Given the description of an element on the screen output the (x, y) to click on. 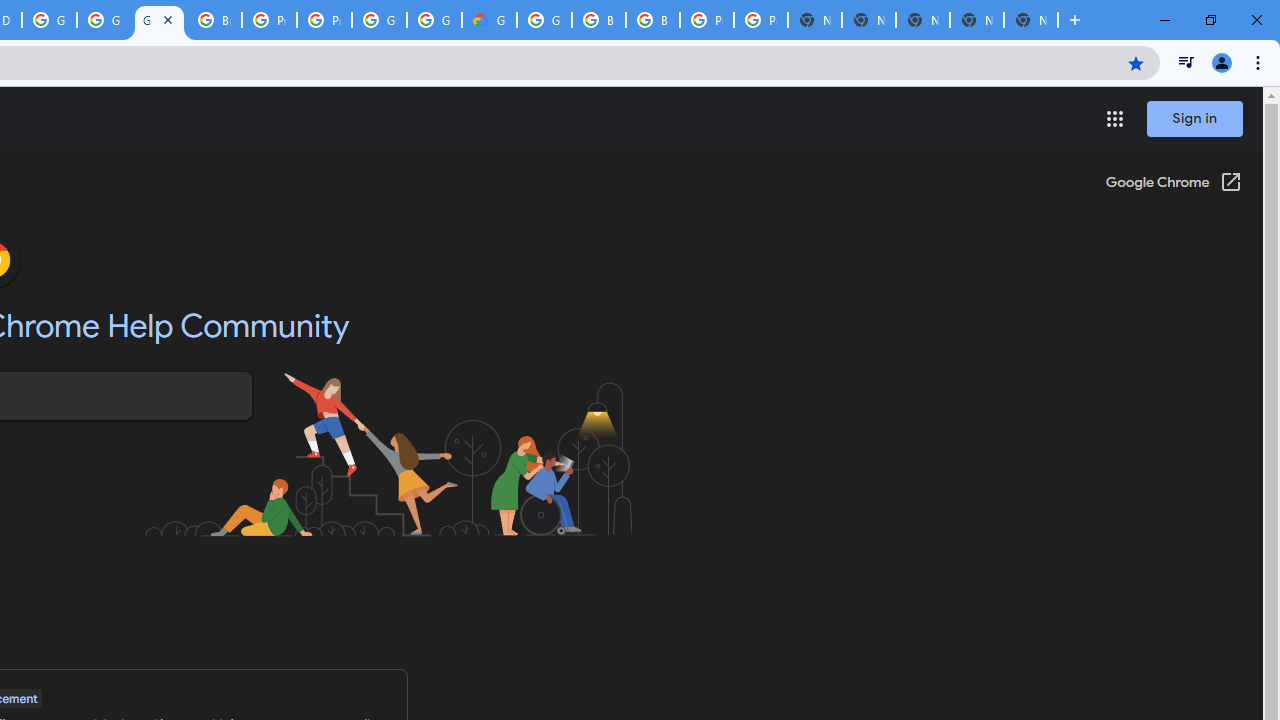
Browse Chrome as a guest - Computer - Google Chrome Help (598, 20)
Google Chrome Community (158, 20)
Google Cloud Platform (379, 20)
Google Cloud Platform (48, 20)
Google Cloud Platform (544, 20)
Google Cloud Platform (434, 20)
